Given the description of an element on the screen output the (x, y) to click on. 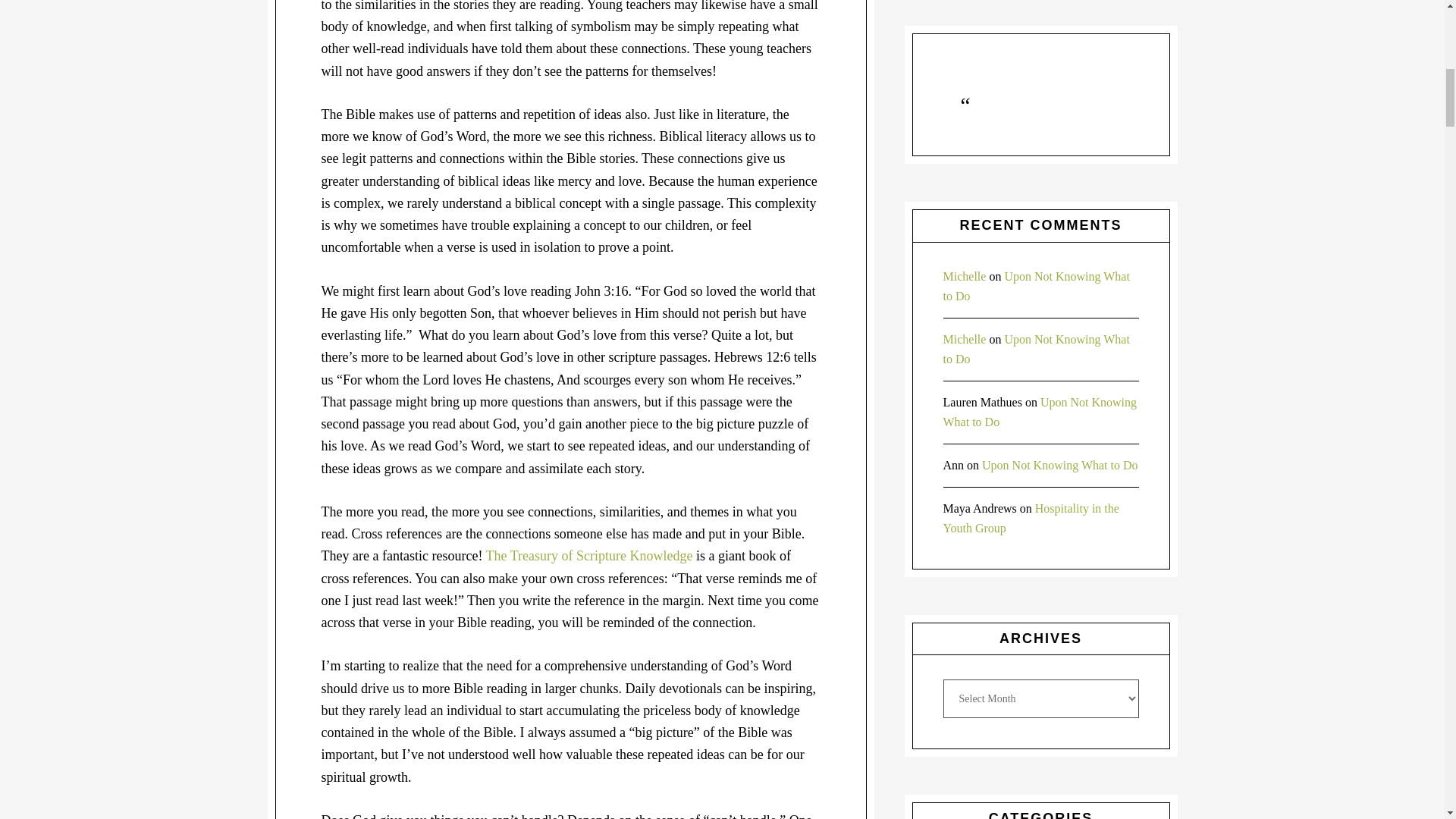
Upon Not Knowing What to Do (1059, 464)
Upon Not Knowing What to Do (1040, 411)
Upon Not Knowing What to Do (1036, 286)
Upon Not Knowing What to Do (1036, 348)
Michelle (965, 338)
Michelle (965, 276)
The Treasury of Scripture Knowledge (589, 555)
